Given the description of an element on the screen output the (x, y) to click on. 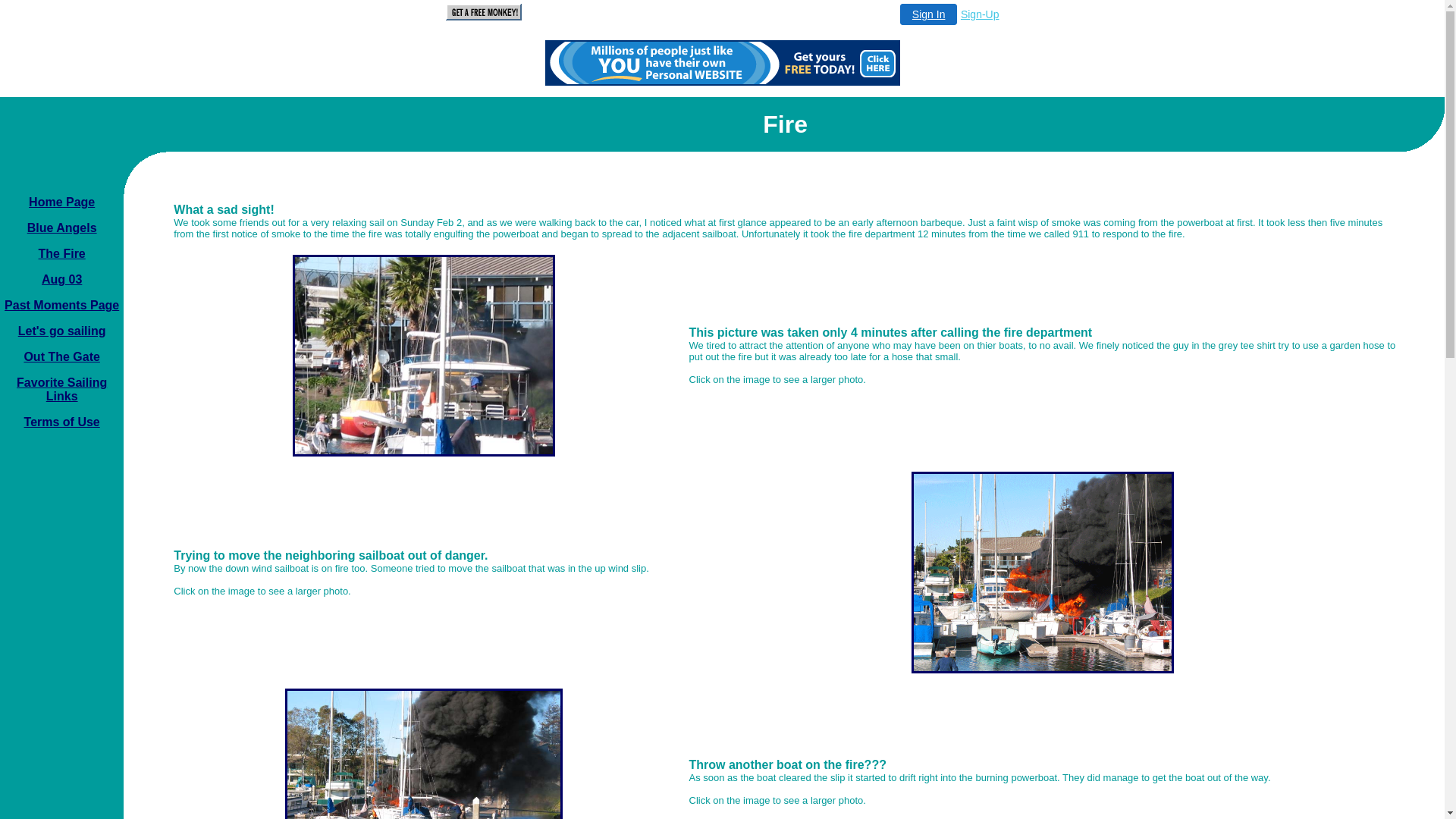
Terms of Use Element type: text (62, 421)
Sign-Up Element type: text (979, 14)
Let's go sailing Element type: text (62, 330)
Home Page Element type: text (61, 201)
Past Moments Page Element type: text (61, 304)
Out The Gate Element type: text (61, 356)
Sign In Element type: text (928, 14)
The Fire Element type: text (61, 253)
Favorite Sailing Links Element type: text (61, 389)
Blue Angels Element type: text (62, 227)
Aug 03 Element type: text (61, 279)
